Given the description of an element on the screen output the (x, y) to click on. 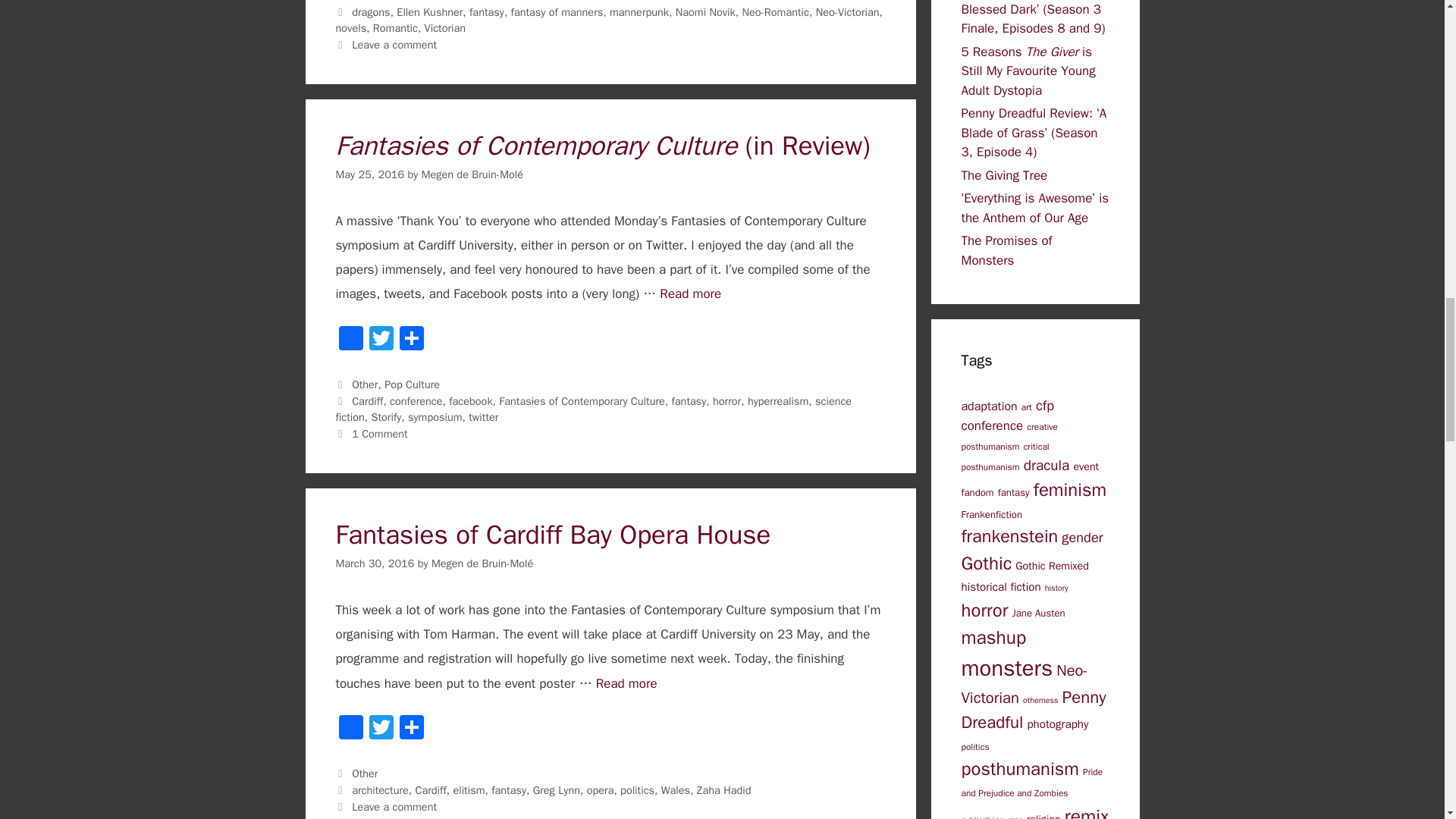
Twitter (380, 339)
Facebook (349, 728)
Fantasies of Cardiff Bay Opera House (626, 683)
Facebook (349, 339)
